Given the description of an element on the screen output the (x, y) to click on. 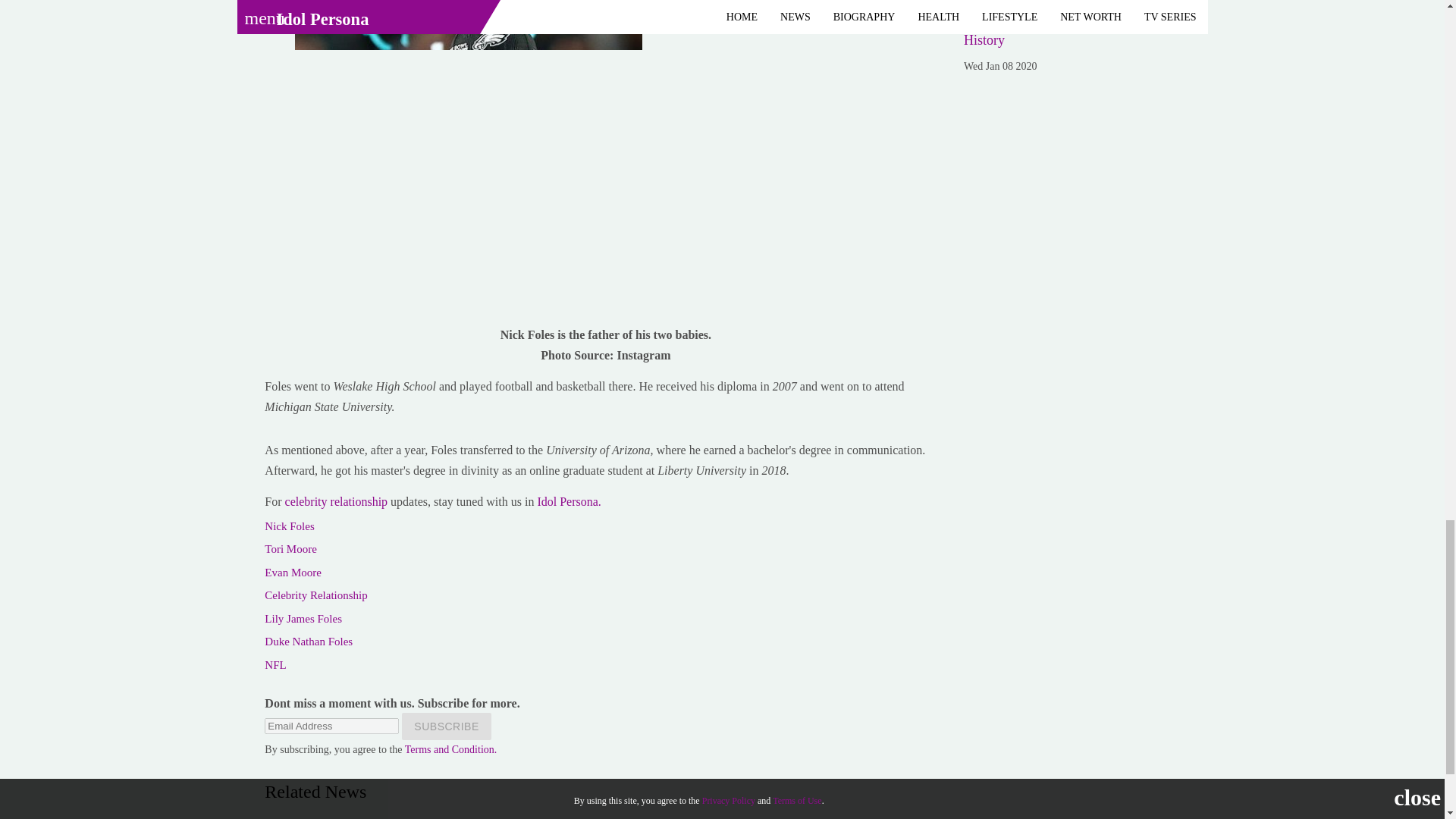
Evan Moore (292, 572)
celebrity relationship (338, 501)
Nick Foles (289, 526)
Tori Moore (290, 548)
Idol Persona. (568, 501)
